Given the description of an element on the screen output the (x, y) to click on. 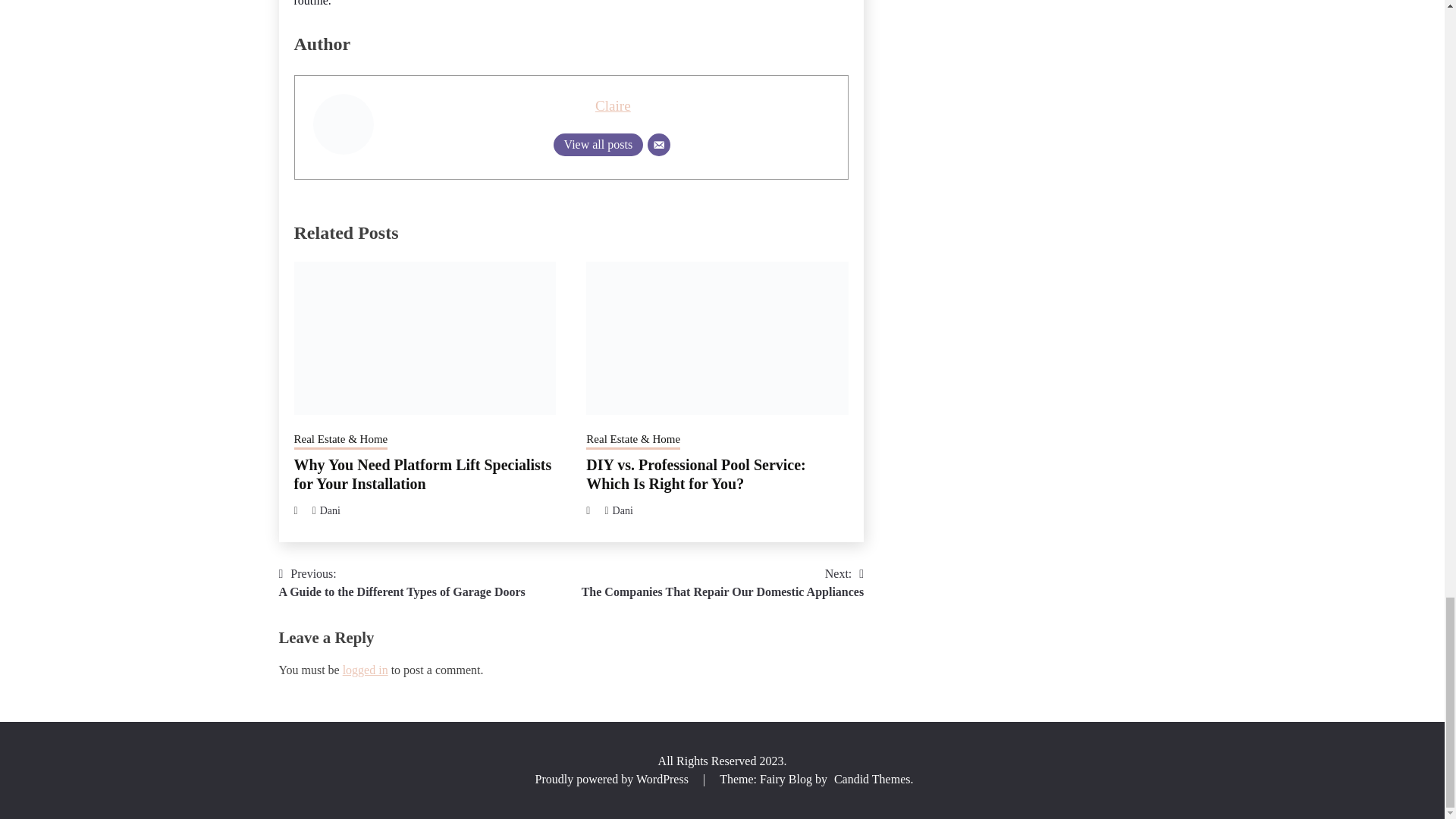
Claire (612, 105)
Claire (612, 105)
View all posts (402, 583)
logged in (598, 144)
View all posts (365, 669)
Dani (598, 144)
Dani (330, 510)
DIY vs. Professional Pool Service: Which Is Right for You? (622, 510)
Why You Need Platform Lift Specialists for Your Installation (695, 474)
